Given the description of an element on the screen output the (x, y) to click on. 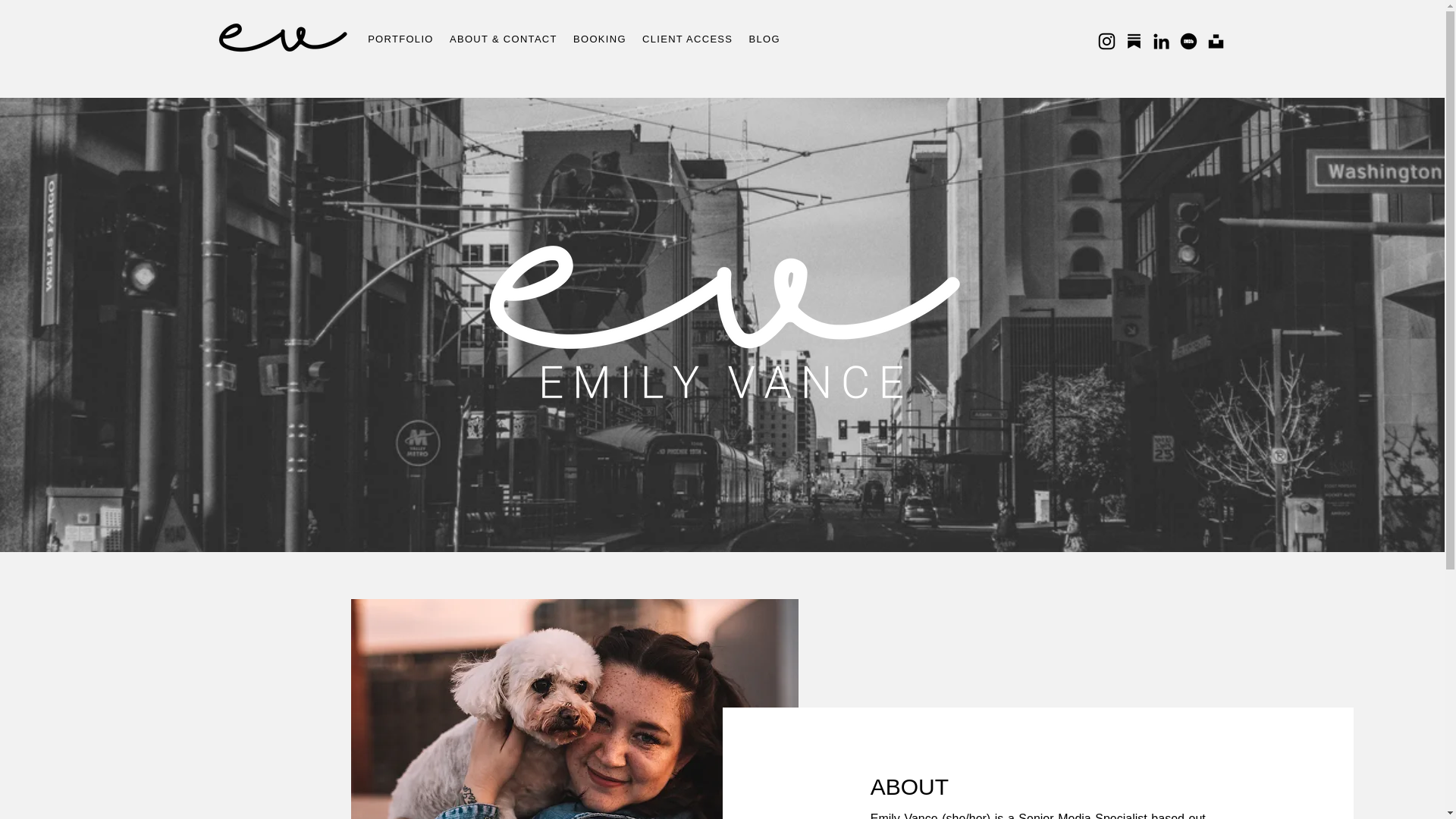
CLIENT ACCESS (687, 39)
BLOG (765, 39)
BOOKING (598, 39)
